Given the description of an element on the screen output the (x, y) to click on. 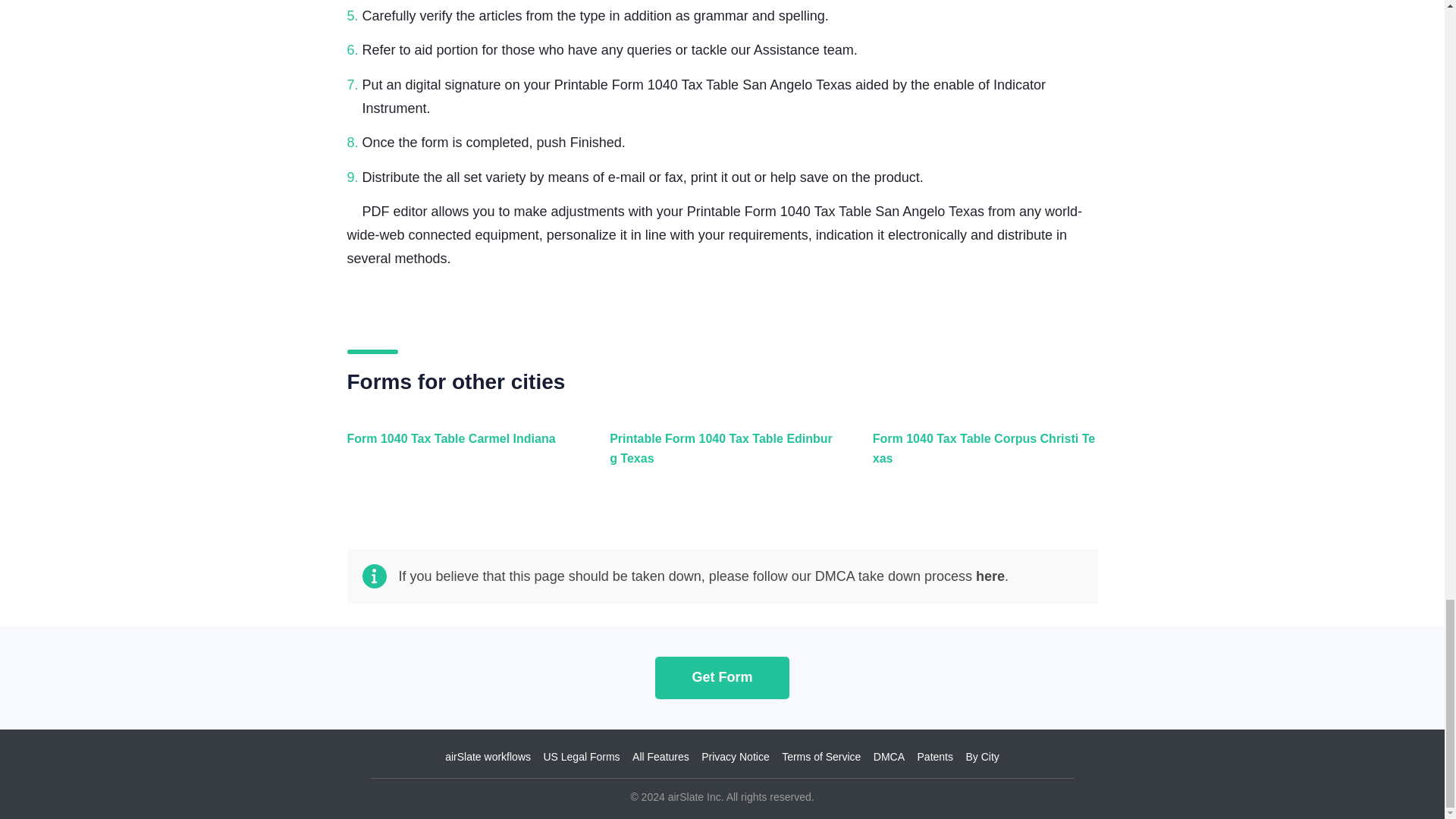
Form 1040 Tax Table Corpus Christi Texas (981, 456)
Form 1040 Tax Table Carmel Indiana (456, 456)
here (989, 575)
DMCA (888, 756)
Get Form (722, 676)
All Features (659, 756)
By City (981, 756)
Terms of Service (820, 756)
Privacy Notice (734, 756)
US Legal Forms (581, 756)
